Given the description of an element on the screen output the (x, y) to click on. 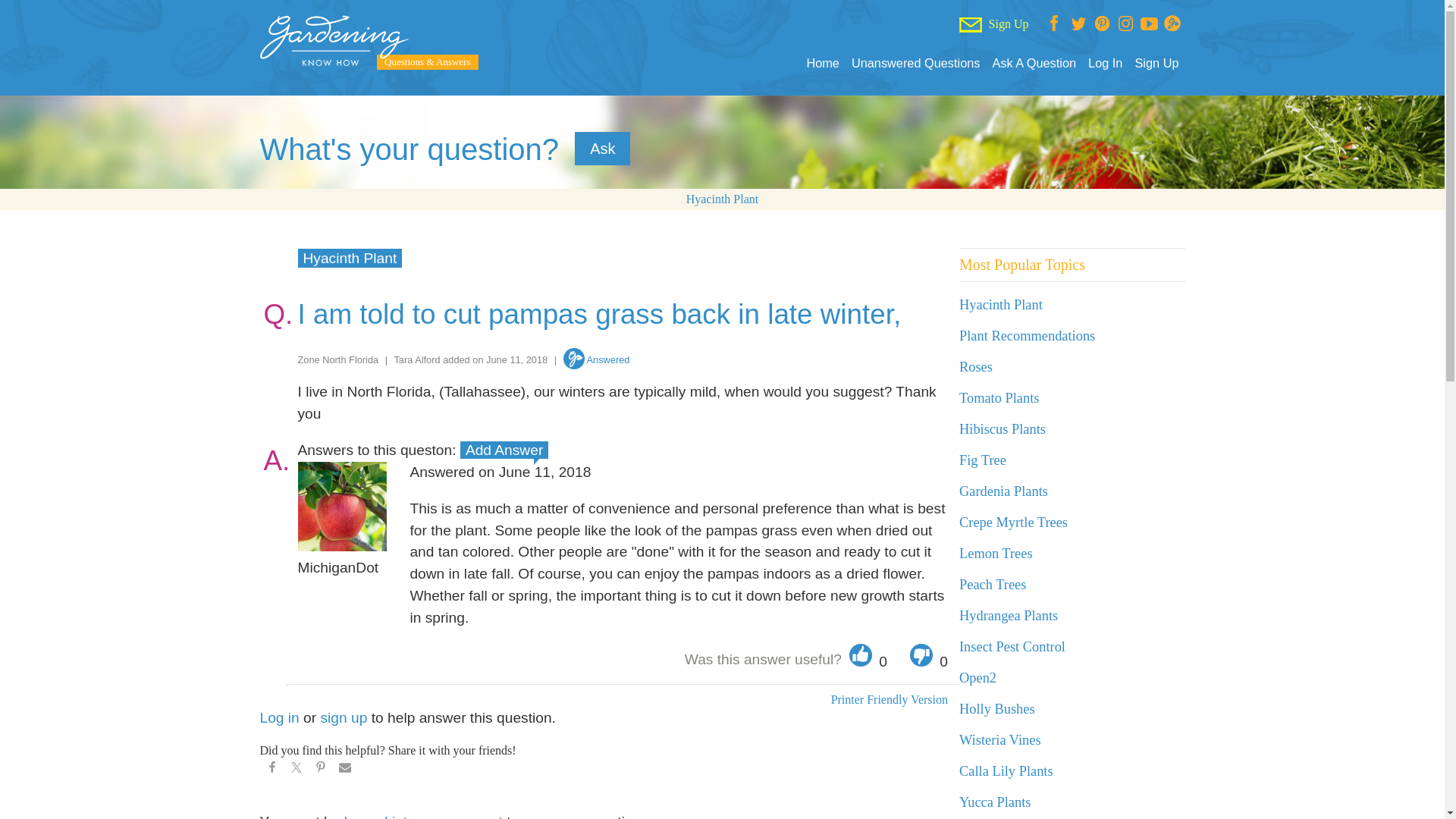
Printer Friendly Version (889, 698)
Gardenia Plants (1003, 491)
Roses (975, 366)
Hyacinth Plant (349, 257)
Answered (596, 359)
Share on Twitter (295, 769)
Hyacinth Plant (1000, 304)
Lemon Trees (995, 553)
Fig Tree (982, 459)
Share via Email (343, 769)
